Given the description of an element on the screen output the (x, y) to click on. 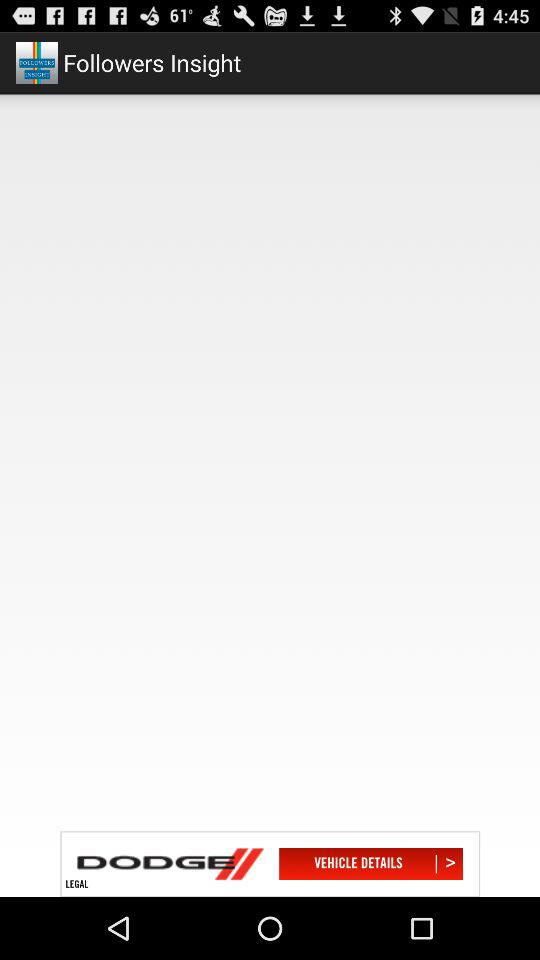
advertisement (270, 864)
